Given the description of an element on the screen output the (x, y) to click on. 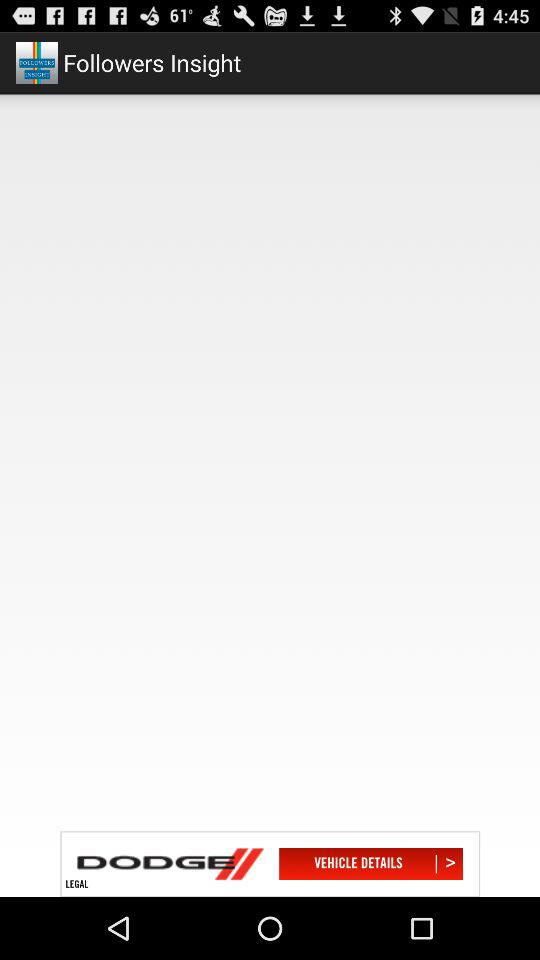
advertisement (270, 864)
